Given the description of an element on the screen output the (x, y) to click on. 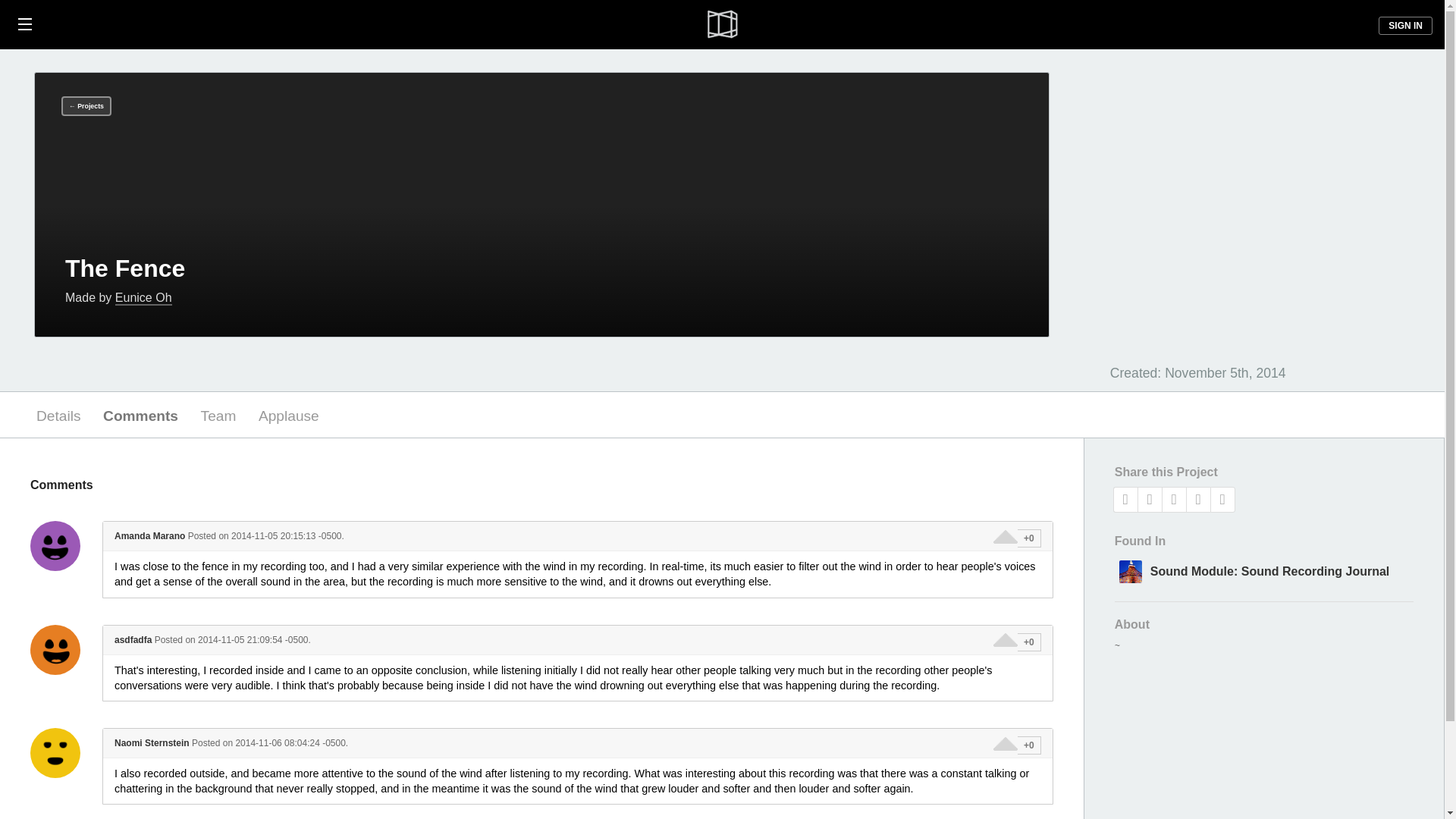
Share on Twitter (1149, 499)
Amanda Marano (55, 545)
SIGN IN (1405, 25)
asdfadfa (55, 649)
Share on Facebook (1125, 499)
Share on Pinterest (1173, 499)
Share by Email (1221, 499)
Sound Module: Sound Recording Journal (1263, 570)
Eunice Oh (143, 298)
Naomi Sternstein (55, 753)
